Given the description of an element on the screen output the (x, y) to click on. 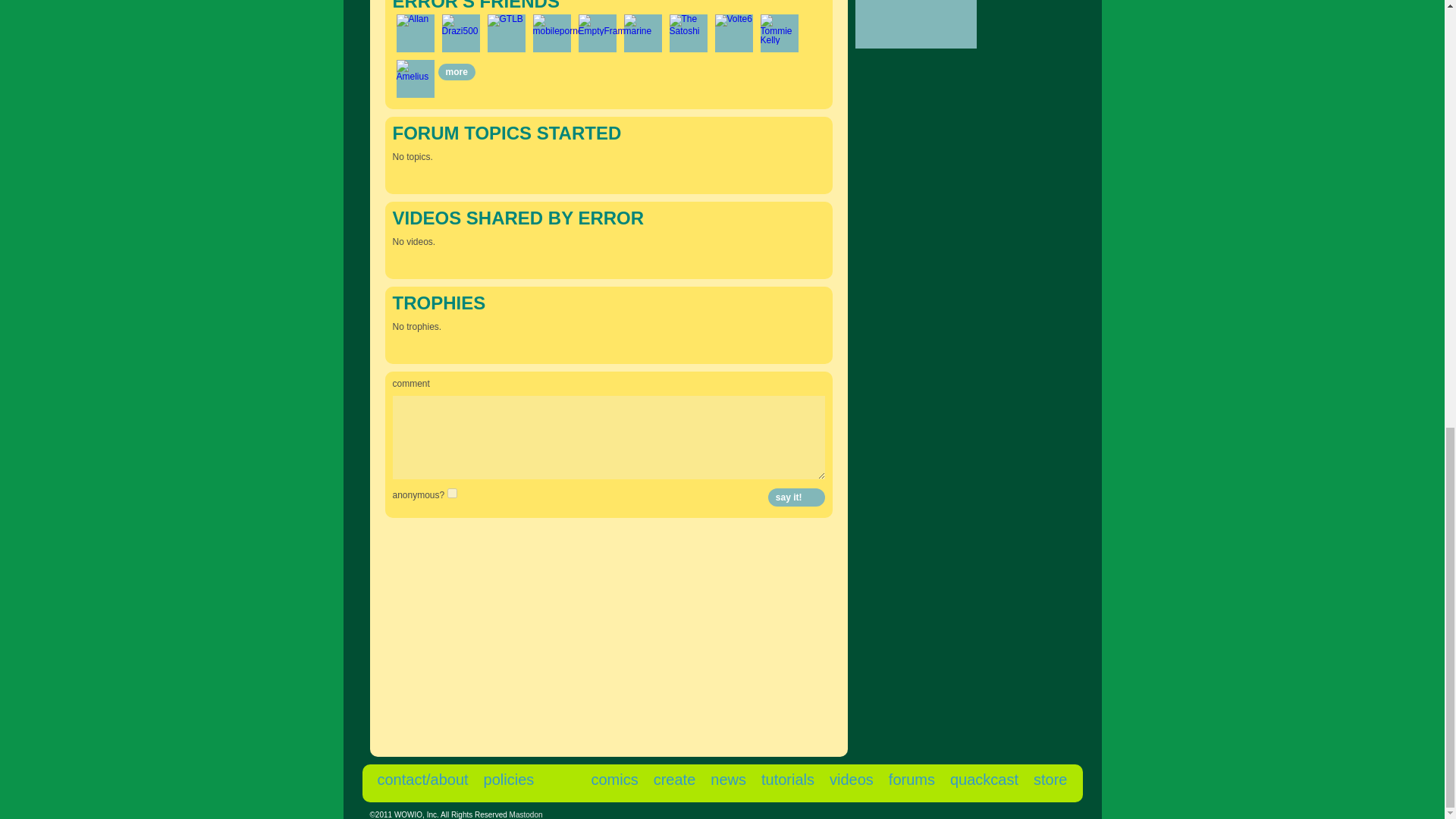
Allan (412, 20)
Tommie Kelly (778, 29)
say it! (796, 497)
1 (451, 492)
Amelius (414, 70)
GTLB (504, 20)
Volte6 (732, 20)
EmptyFrame (604, 25)
marine (642, 25)
mobilepornography (571, 25)
